Given the description of an element on the screen output the (x, y) to click on. 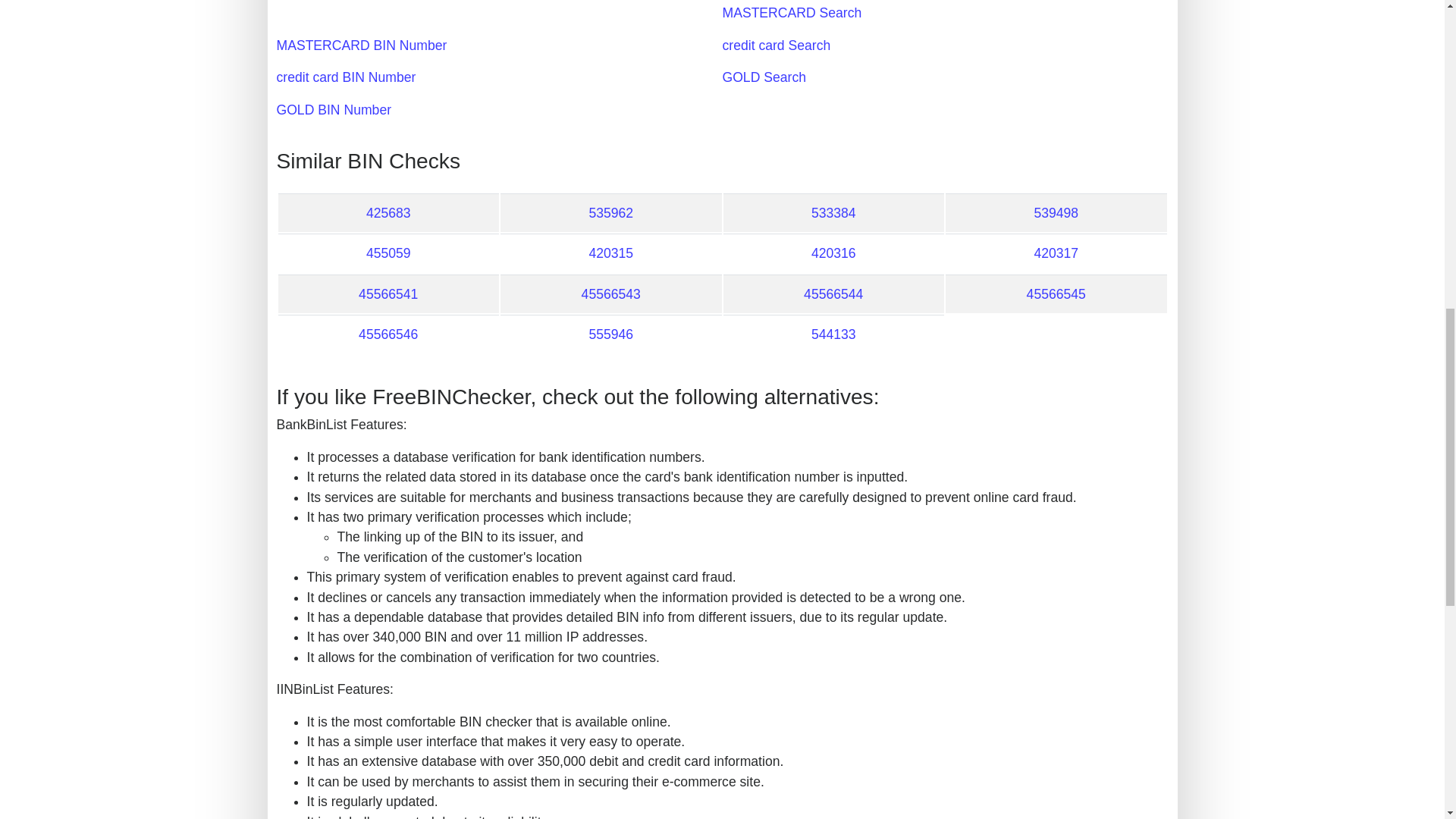
MASTERCARD Search (791, 12)
425683 (388, 212)
GOLD Search (764, 77)
MASTERCARD BIN Number (361, 45)
credit card BIN Number (345, 77)
GOLD BIN Number (333, 109)
credit card Search (775, 45)
